Given the description of an element on the screen output the (x, y) to click on. 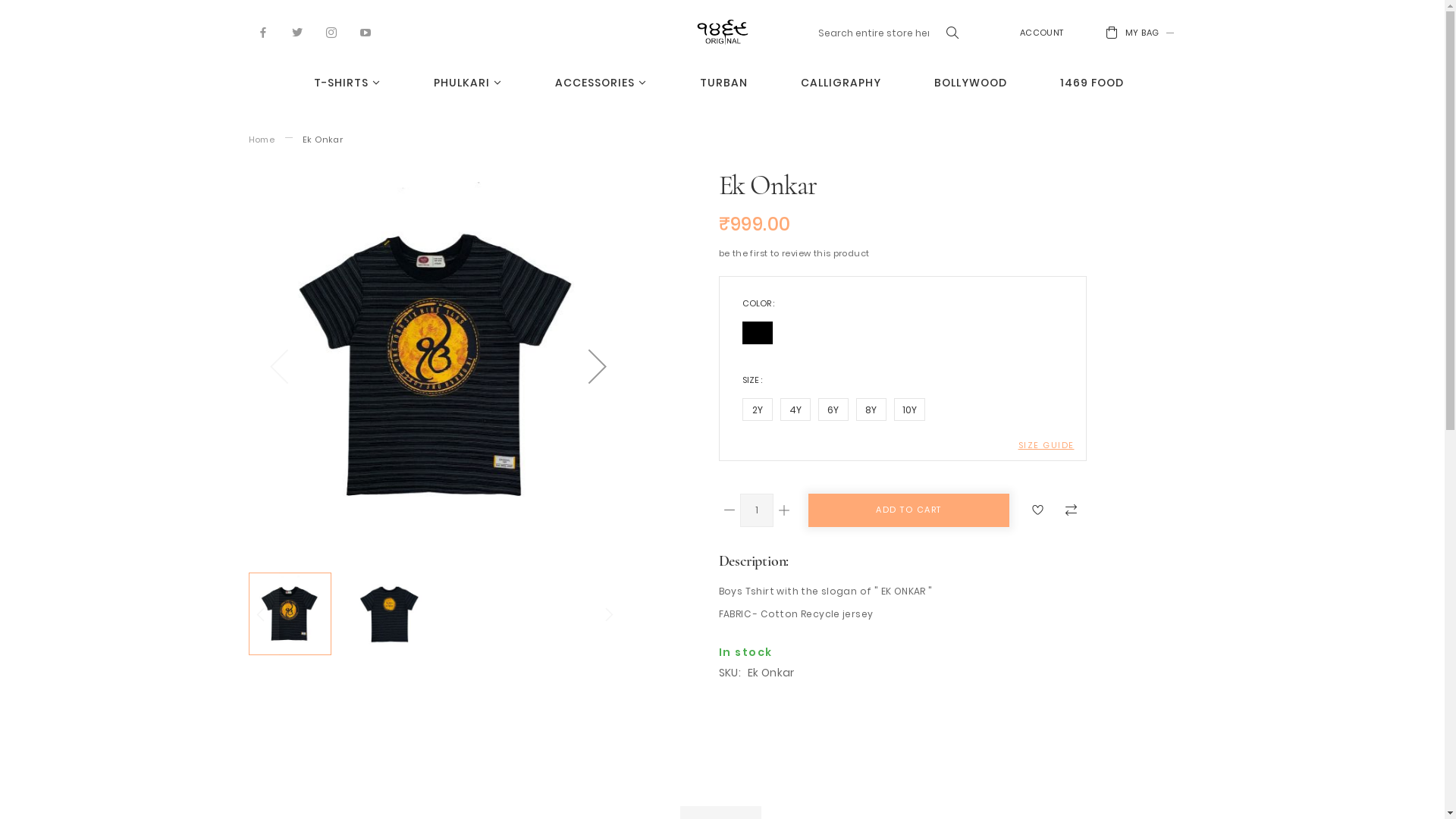
Search Element type: hover (953, 32)
MY BAG Element type: text (1143, 32)
BOLLYWOOD Element type: text (970, 82)
ADD TO CART Element type: text (909, 510)
SIZE GUIDE Element type: text (1045, 444)
Connect Us on Facebook Element type: hover (263, 32)
CALLIGRAPHY Element type: text (840, 82)
Connect Us on Youtube Element type: hover (365, 32)
be the first to review this product Element type: text (793, 252)
T-SHIRTS Element type: text (347, 82)
1469 FOOD Element type: text (1091, 82)
1469 Original Element type: hover (722, 32)
Home Element type: text (261, 139)
ACCESSORIES Element type: text (600, 82)
Connect Us on Twitter Element type: hover (297, 32)
TURBAN Element type: text (722, 82)
Connect Us on Instagram Element type: hover (331, 32)
Qty Element type: hover (756, 510)
PHULKARI Element type: text (467, 82)
